Given the description of an element on the screen output the (x, y) to click on. 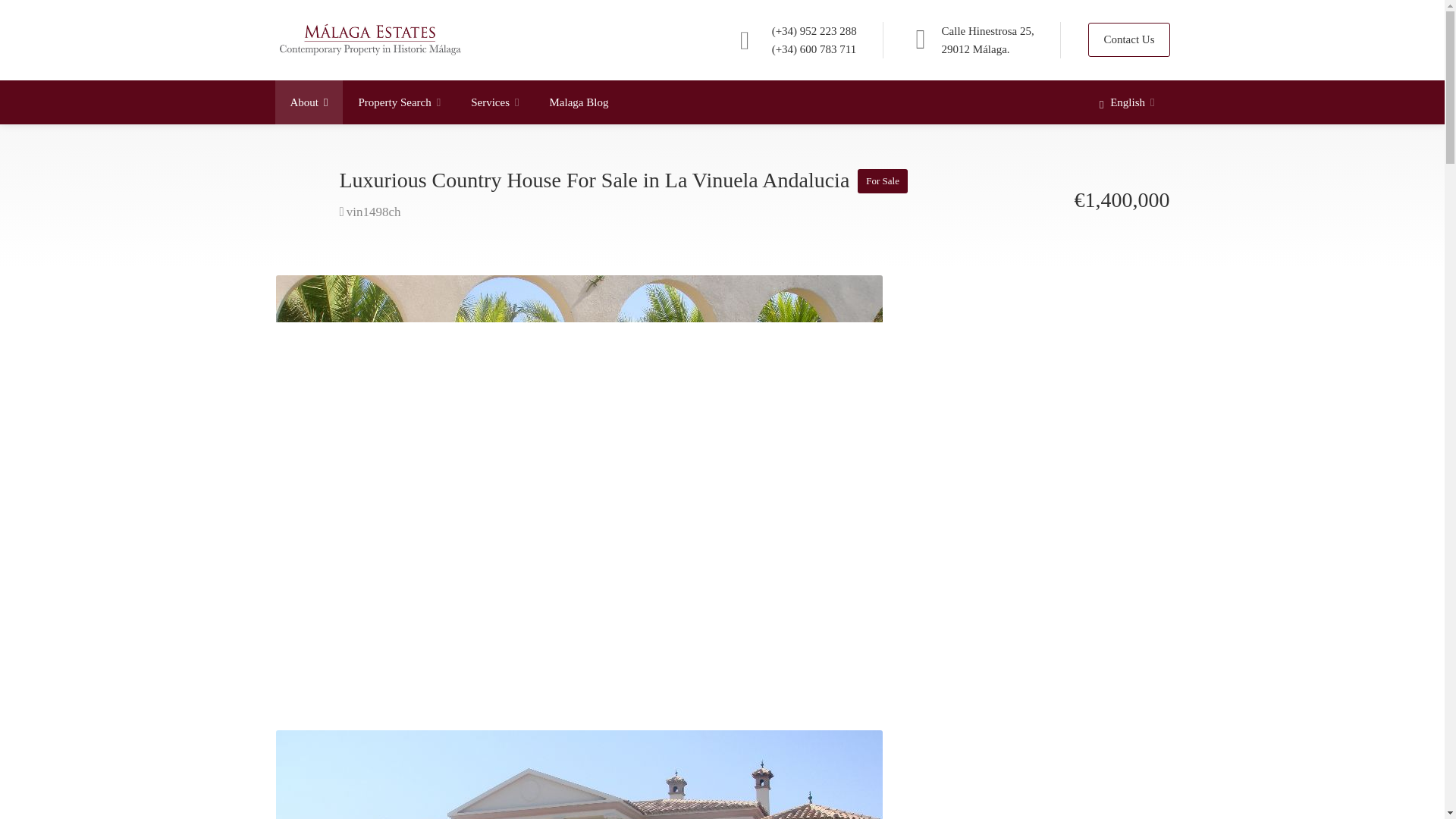
Property Search (398, 102)
Services (494, 102)
Calle Hinestrosa 25, (987, 30)
Contact Us (1128, 39)
About (308, 102)
